Given the description of an element on the screen output the (x, y) to click on. 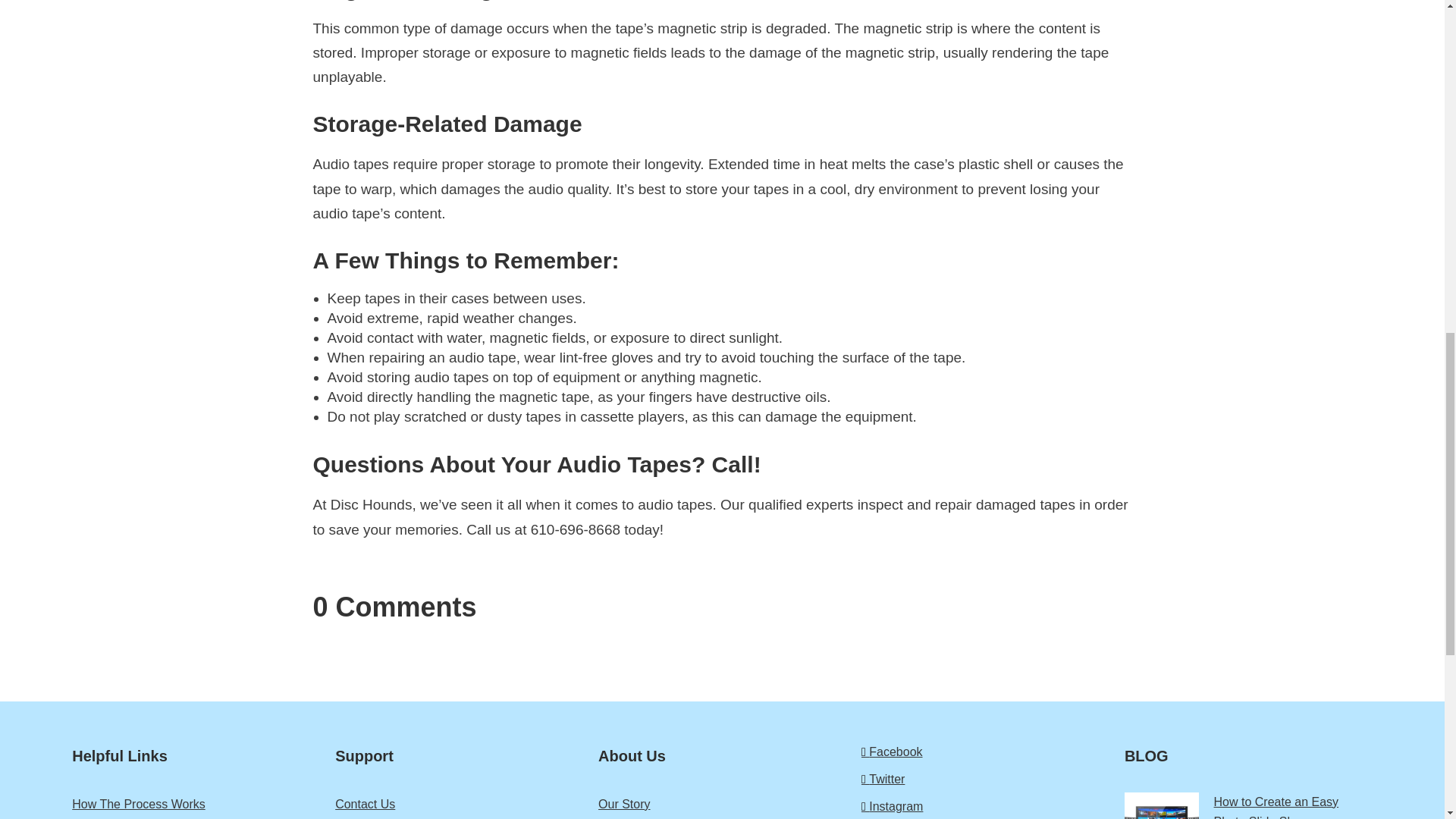
Our Story (721, 804)
Instagram (985, 806)
Facebook (985, 752)
Twitter (985, 779)
Contact Us (458, 804)
How to Create an Easy Photo Slide Show (1248, 805)
How The Process Works (195, 804)
